Given the description of an element on the screen output the (x, y) to click on. 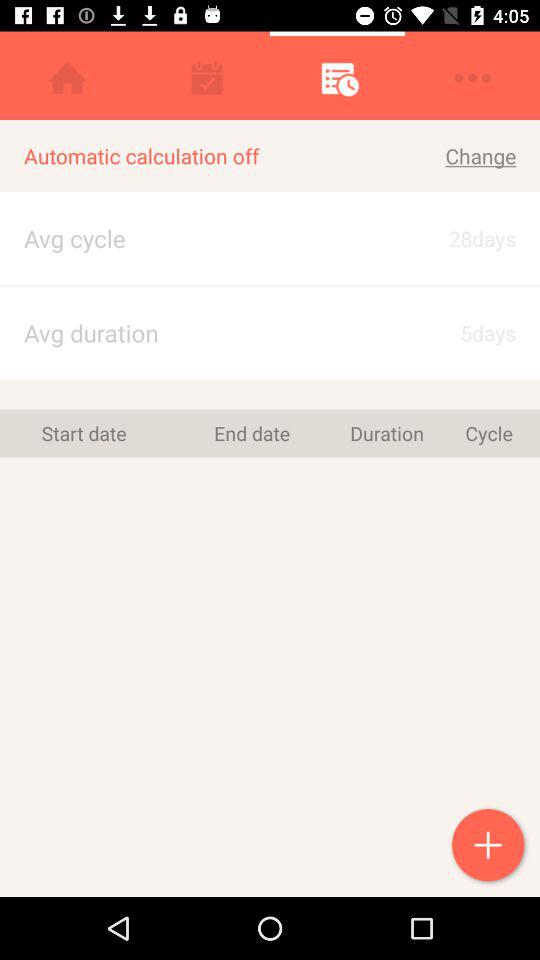
click 5days icon (463, 332)
